Given the description of an element on the screen output the (x, y) to click on. 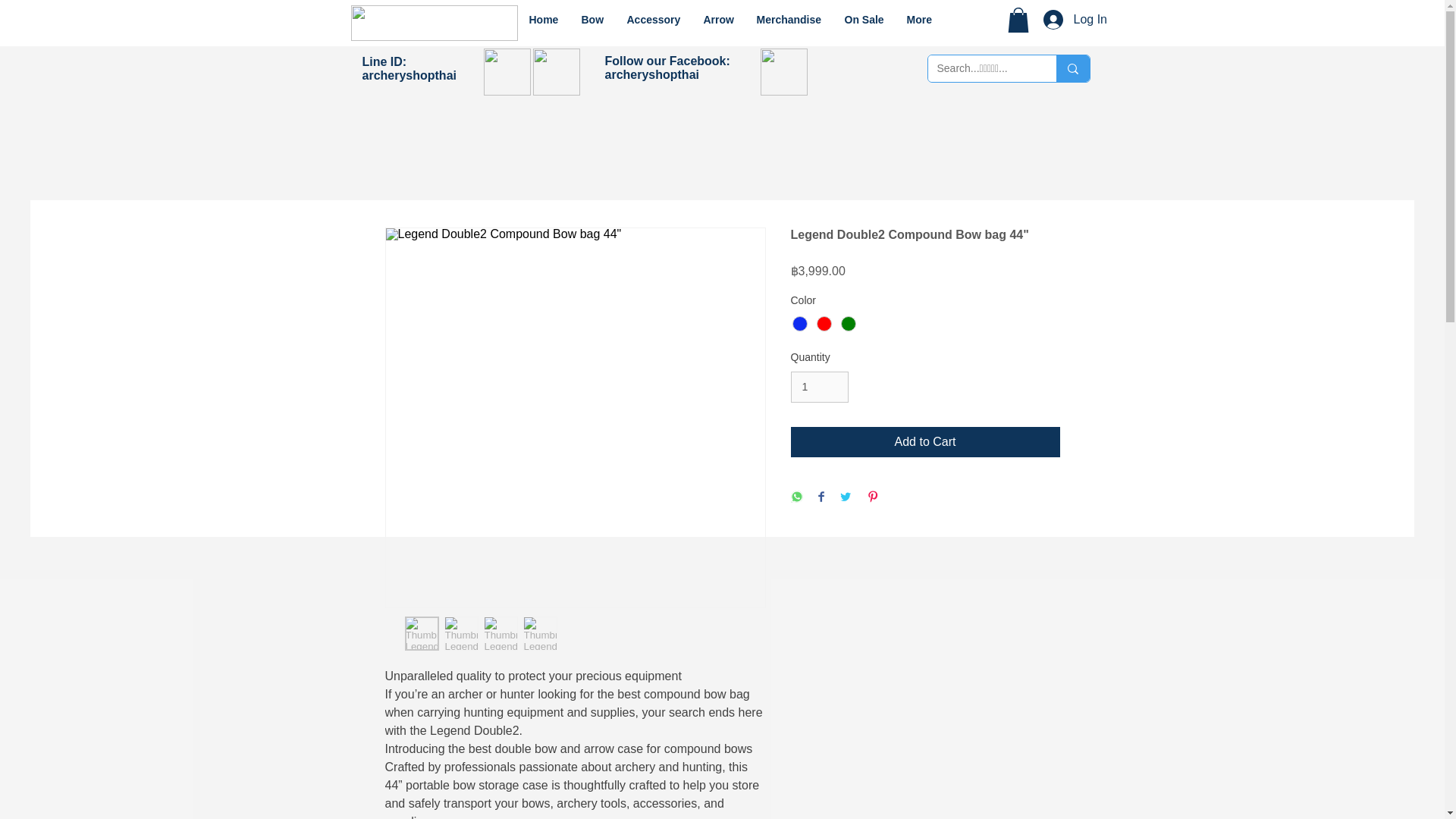
Arrow (717, 19)
Log In (1058, 19)
Home (542, 19)
Add to Cart (924, 441)
ARCHERYSHOPTHAI.png (433, 22)
Bow (592, 19)
Accessory (654, 19)
Merchandise (788, 19)
On Sale (863, 19)
1 (818, 386)
Line archeryshopthai.jpg (507, 71)
